Given the description of an element on the screen output the (x, y) to click on. 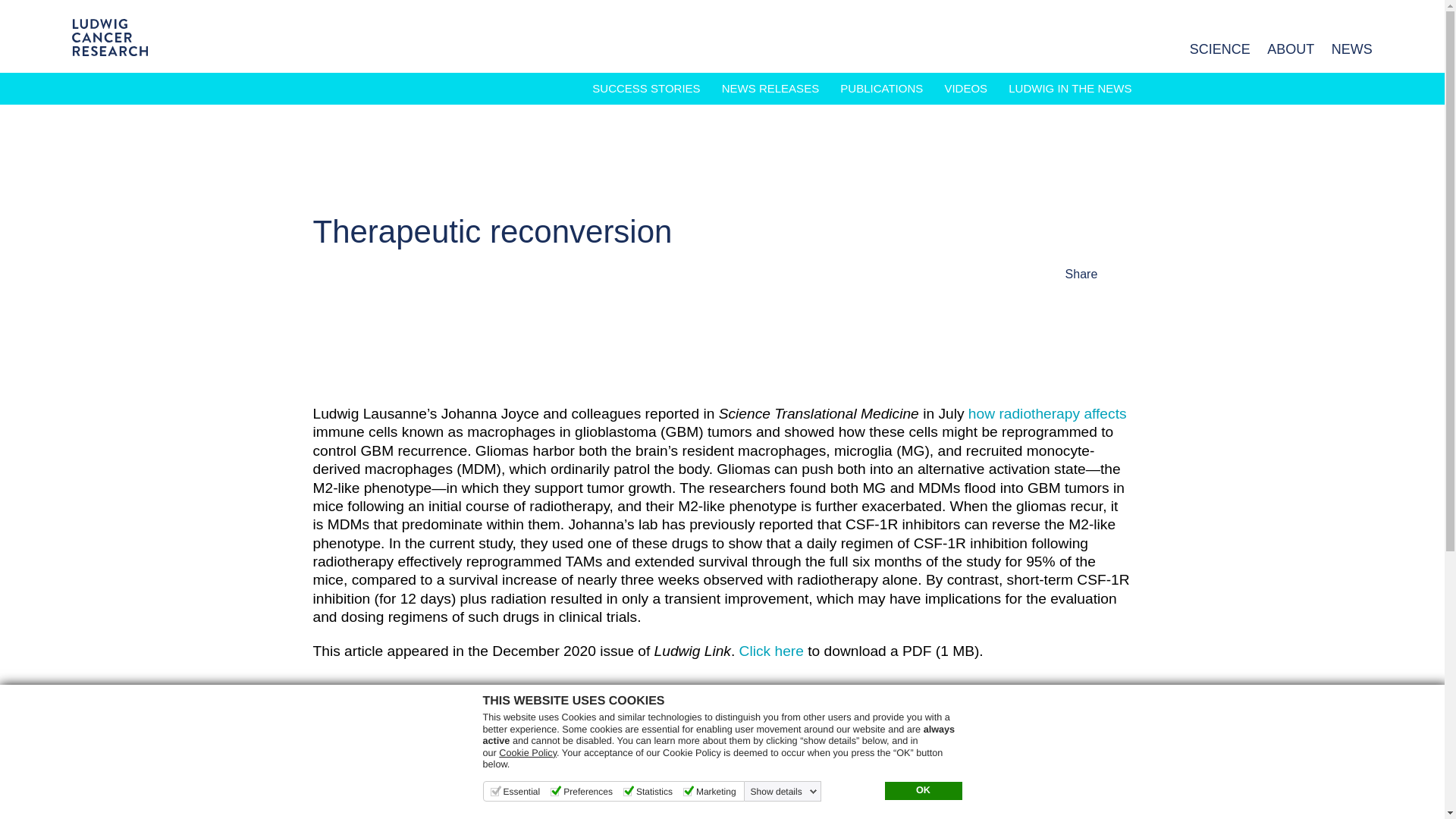
Cookie Policy (527, 752)
OK (921, 791)
Show details (784, 791)
Cookie Policy (527, 752)
